Given the description of an element on the screen output the (x, y) to click on. 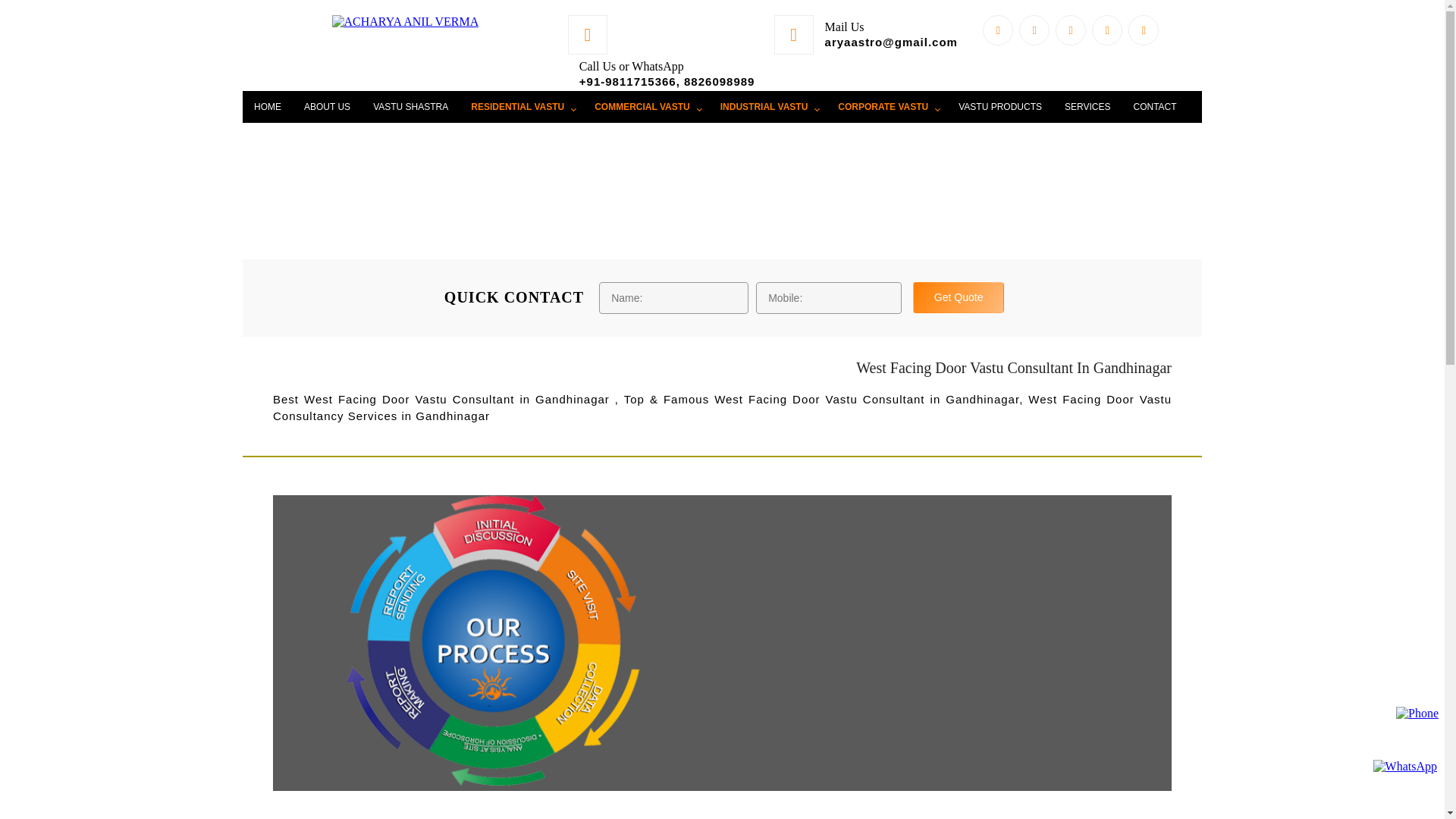
Our Vastu Process (497, 639)
ABOUT US (326, 106)
ACHARYA ANIL VERMA (405, 21)
RESIDENTIAL VASTU (521, 106)
VASTU SHASTRA (410, 106)
INDUSTRIAL VASTU (768, 106)
COMMERCIAL VASTU (646, 106)
HOME (267, 106)
